Given the description of an element on the screen output the (x, y) to click on. 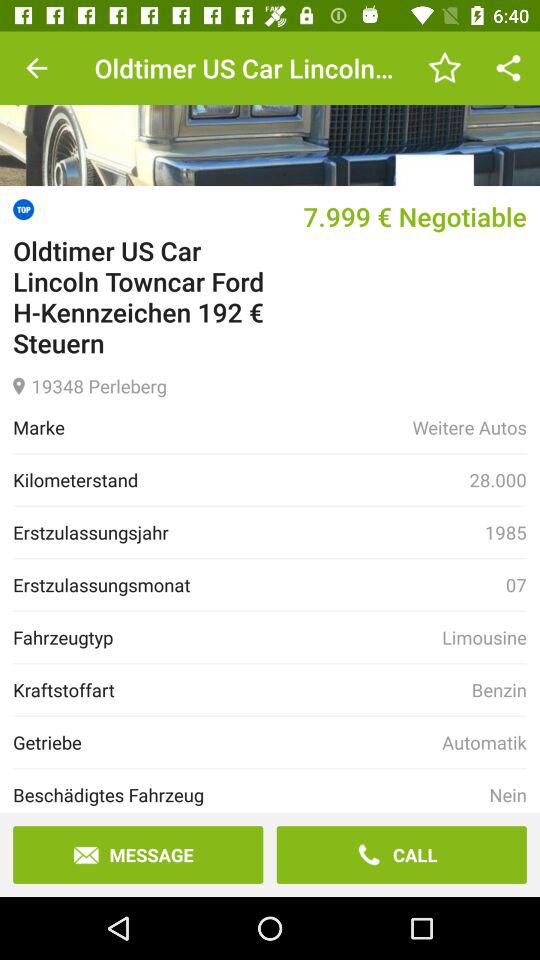
jump until the 28.000 item (497, 479)
